Given the description of an element on the screen output the (x, y) to click on. 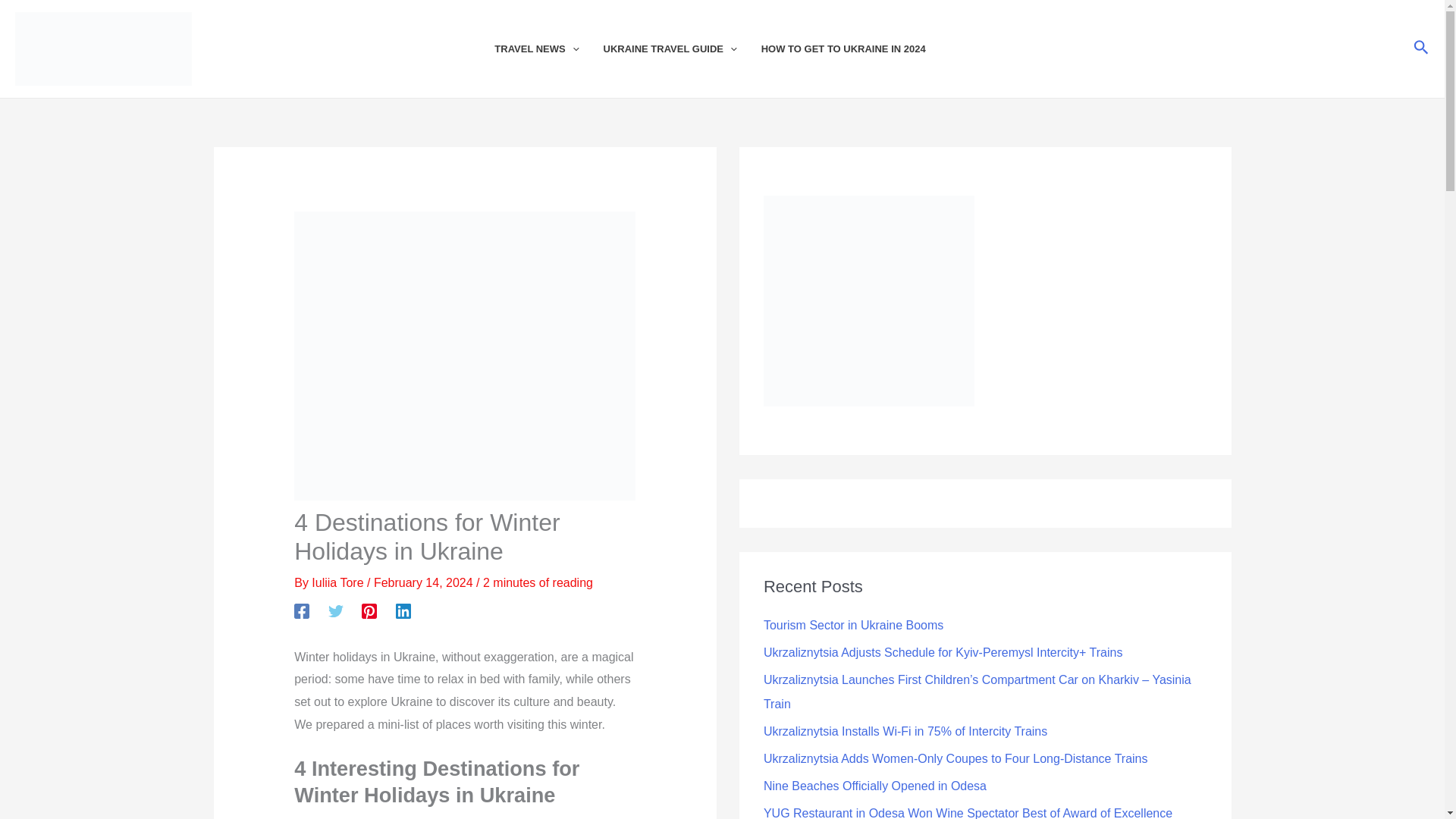
Iuliia Tore (338, 582)
TRAVEL NEWS (548, 48)
HOW TO GET TO UKRAINE IN 2024 (855, 48)
UKRAINE TRAVEL GUIDE (682, 48)
View all posts by Iuliia Tore (338, 582)
